Given the description of an element on the screen output the (x, y) to click on. 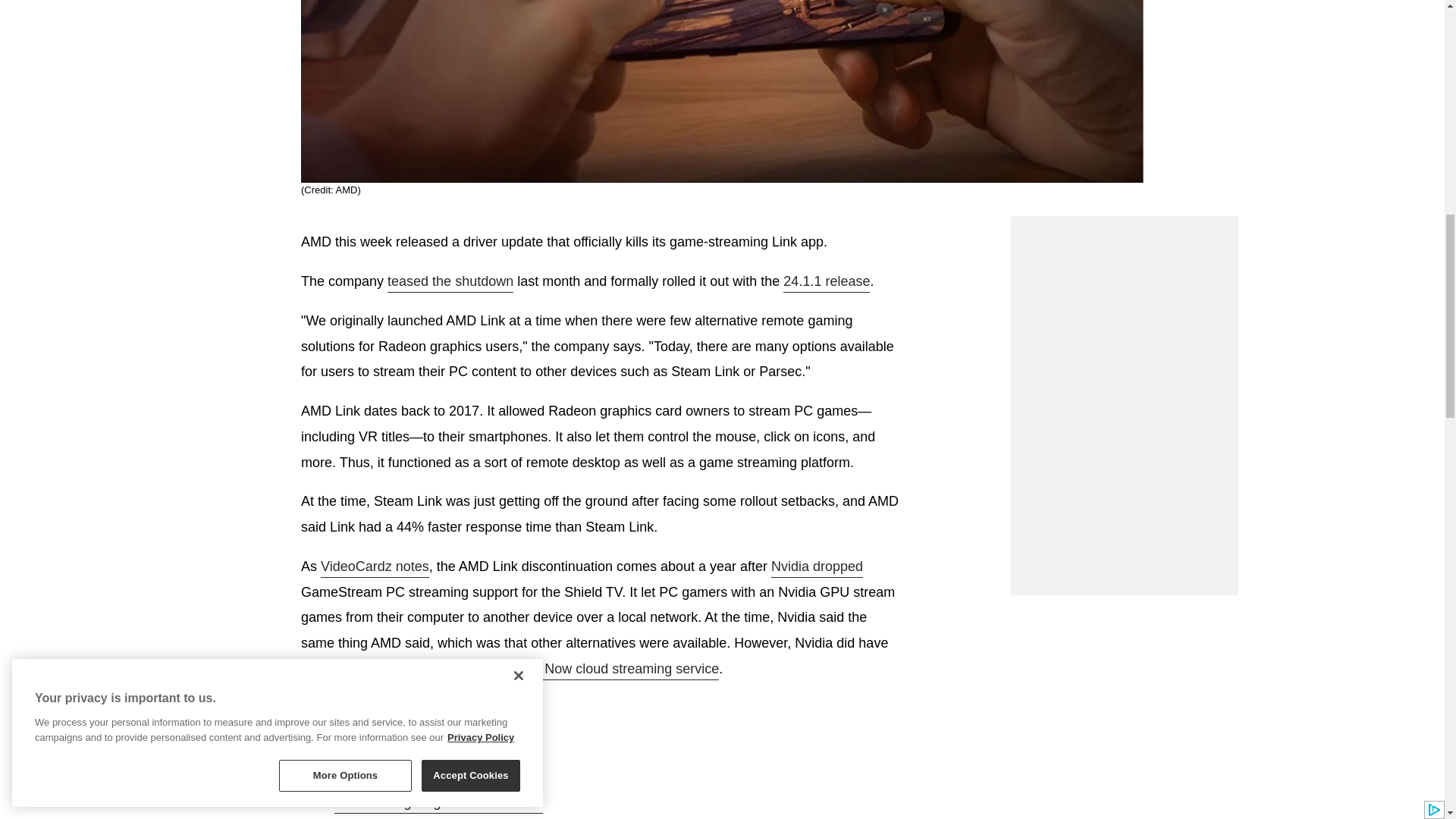
3rd party ad content (1123, 500)
3rd party ad content (1123, 310)
